Given the description of an element on the screen output the (x, y) to click on. 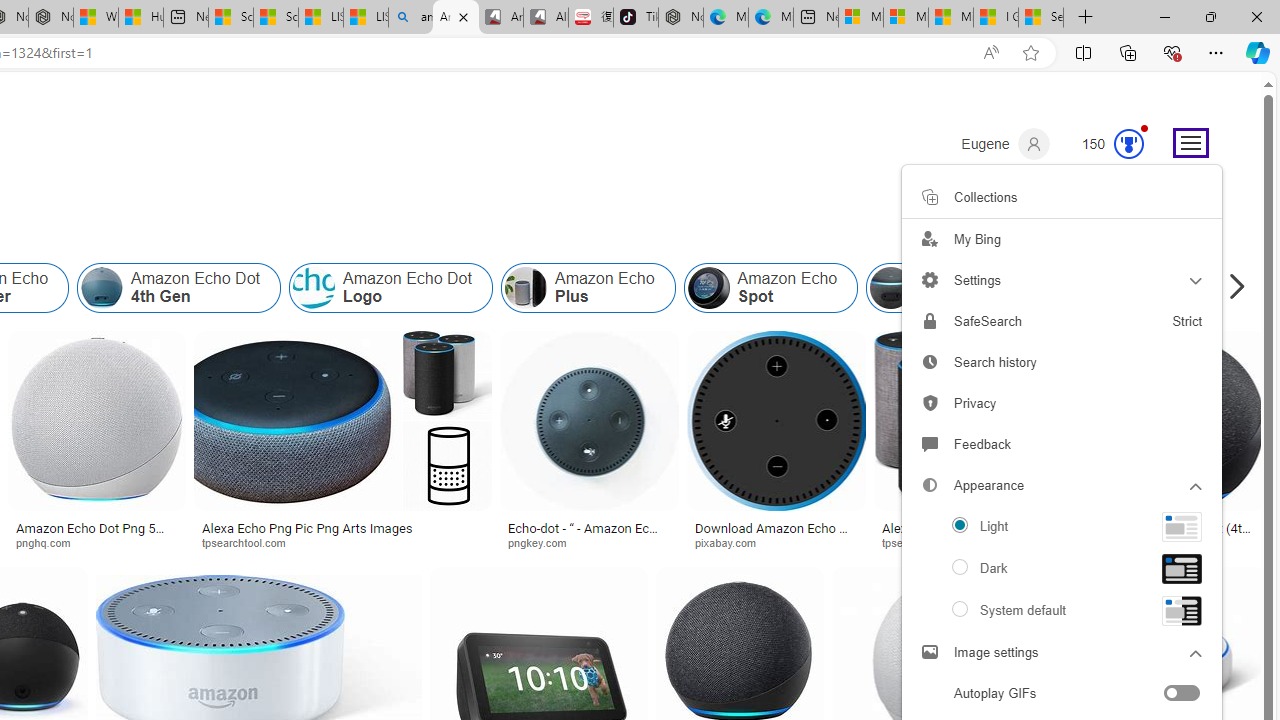
Amazon Echo Plus (587, 287)
Alexa Echo Png Pic Png Arts Images (342, 528)
Echo Dot Generations (1103, 287)
Image result for Amazon Echo Dot PNG (1175, 421)
